Given the description of an element on the screen output the (x, y) to click on. 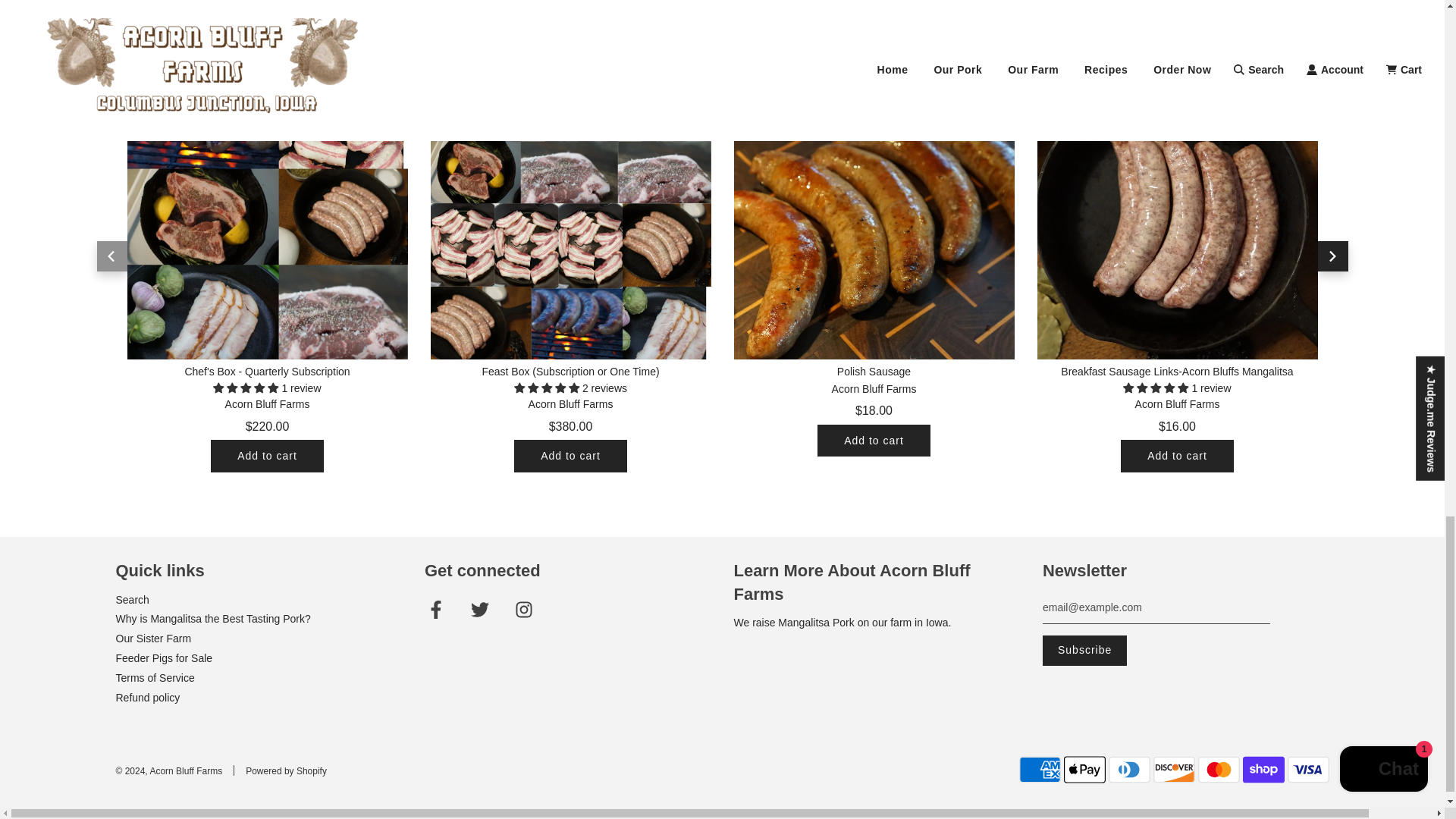
Subscribe (1084, 650)
Chef's Box - Quarterly Subscription (267, 218)
Polish Sausage (873, 218)
Breakfast Sausage Links-Acorn Bluffs Mangalitsa (1176, 218)
